Given the description of an element on the screen output the (x, y) to click on. 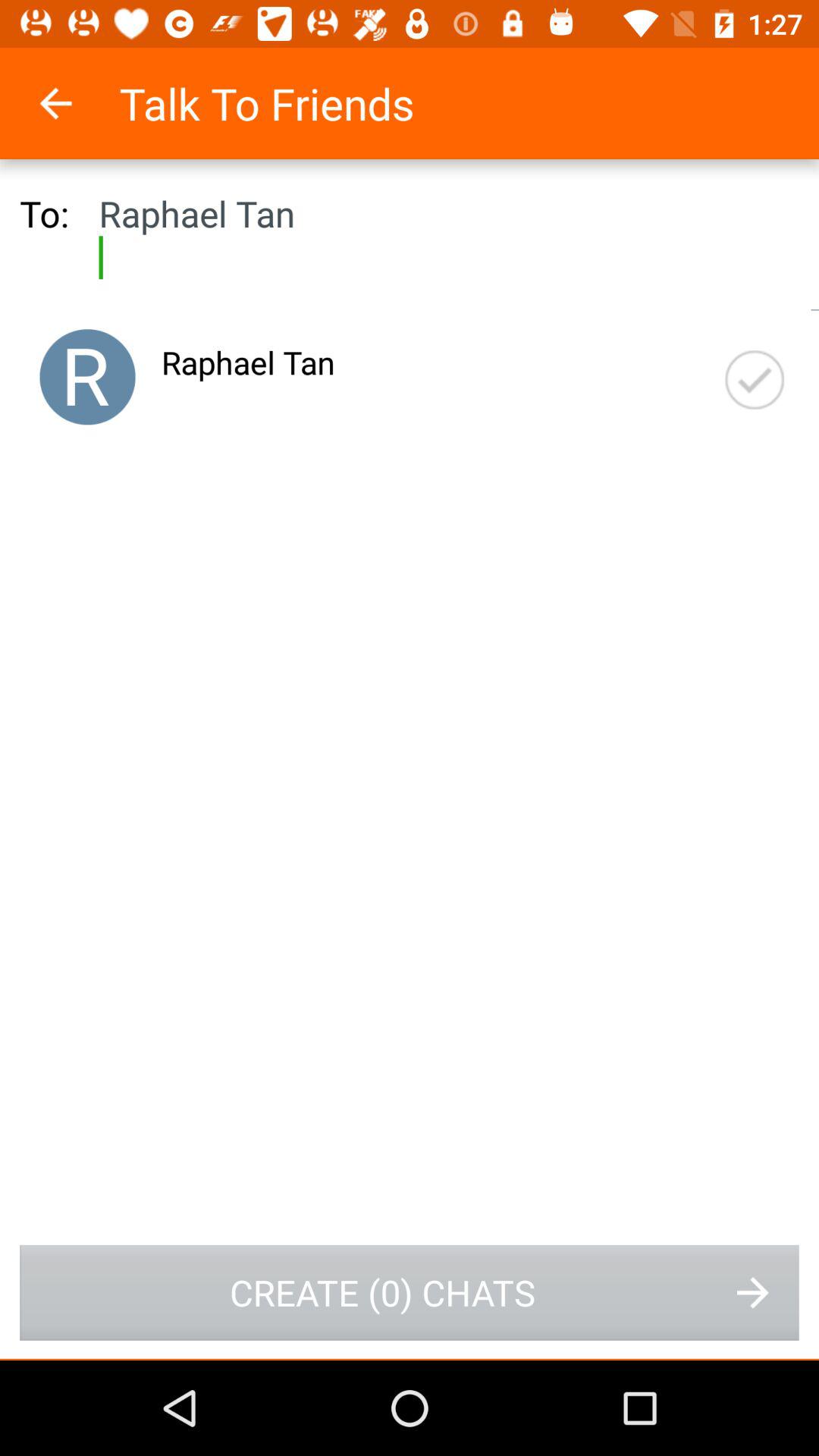
open icon above create (0) chats icon (754, 380)
